Given the description of an element on the screen output the (x, y) to click on. 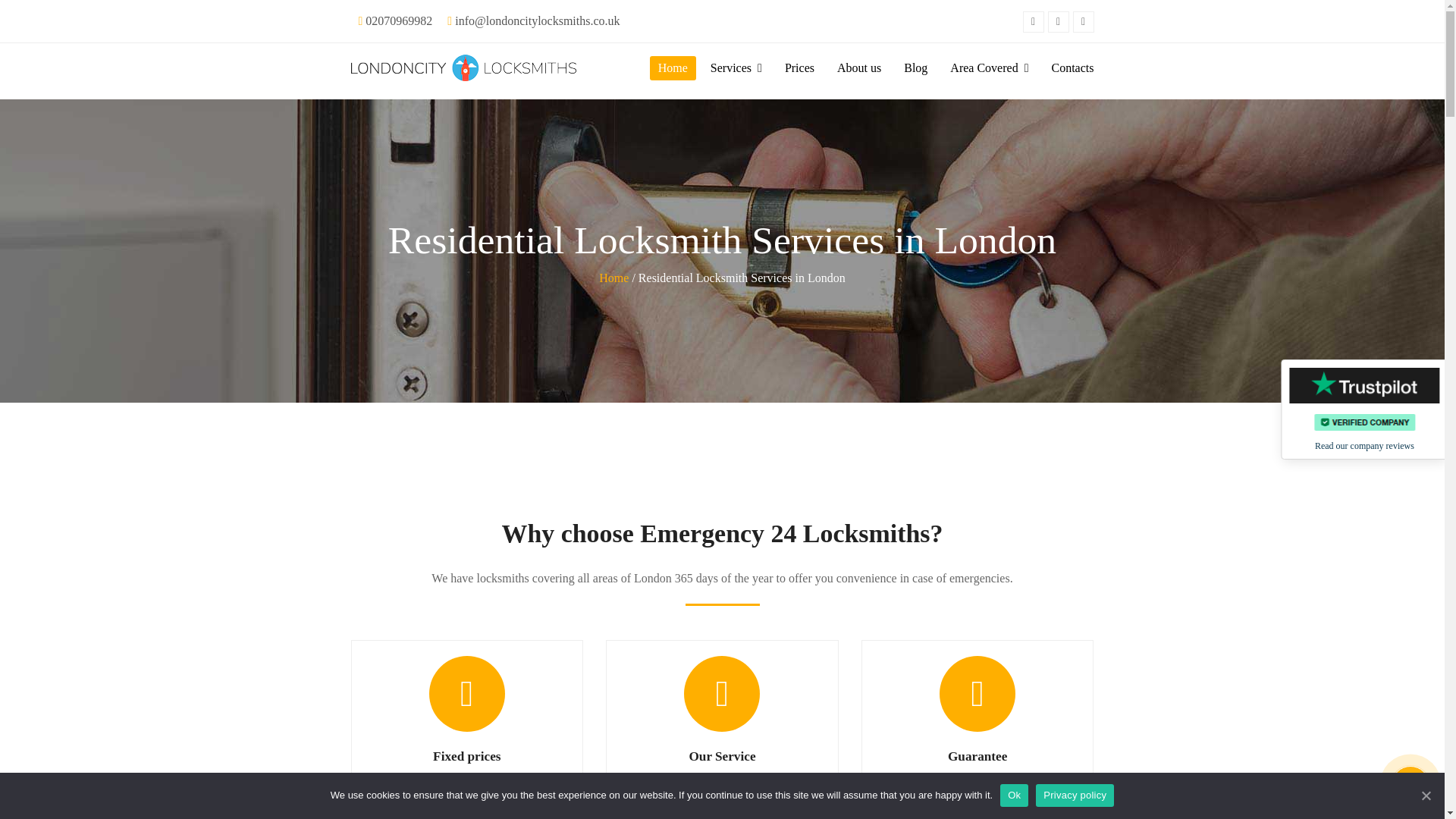
Home (672, 67)
Services (735, 67)
Facebook Profile (1058, 21)
Area Covered (989, 67)
Contacts (1073, 67)
Facebook (1058, 21)
Blog (915, 67)
Prices (799, 67)
linkedin Profile (1082, 21)
Email Us (537, 20)
